Given the description of an element on the screen output the (x, y) to click on. 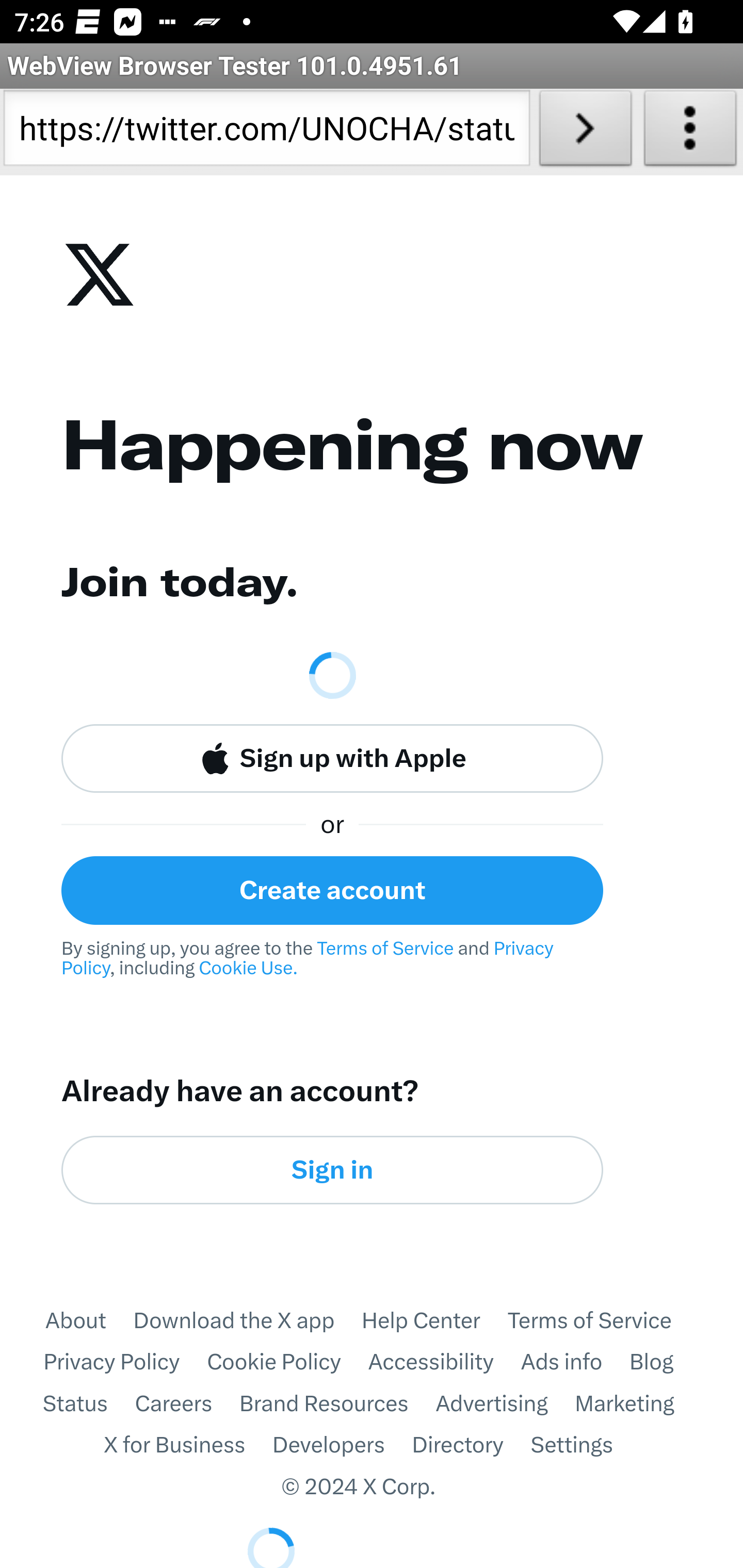
Load URL (585, 132)
About WebView (690, 132)
Sign up with Apple (332, 759)
Create account (332, 890)
Privacy Policy (309, 958)
Terms of Service (384, 948)
Cookie Use. (247, 968)
Sign in (332, 1169)
About (88, 1320)
Download the X app (246, 1320)
Help Center (434, 1320)
Terms of Service (602, 1320)
Privacy Policy (125, 1363)
Cookie Policy (287, 1363)
Accessibility (443, 1363)
Ads info (575, 1363)
Blog (665, 1363)
Status (88, 1404)
Careers (186, 1404)
Brand Resources (337, 1404)
Advertising (504, 1404)
Marketing (638, 1404)
X for Business (188, 1446)
Developers (342, 1446)
Directory (471, 1446)
Settings (584, 1446)
